Given the description of an element on the screen output the (x, y) to click on. 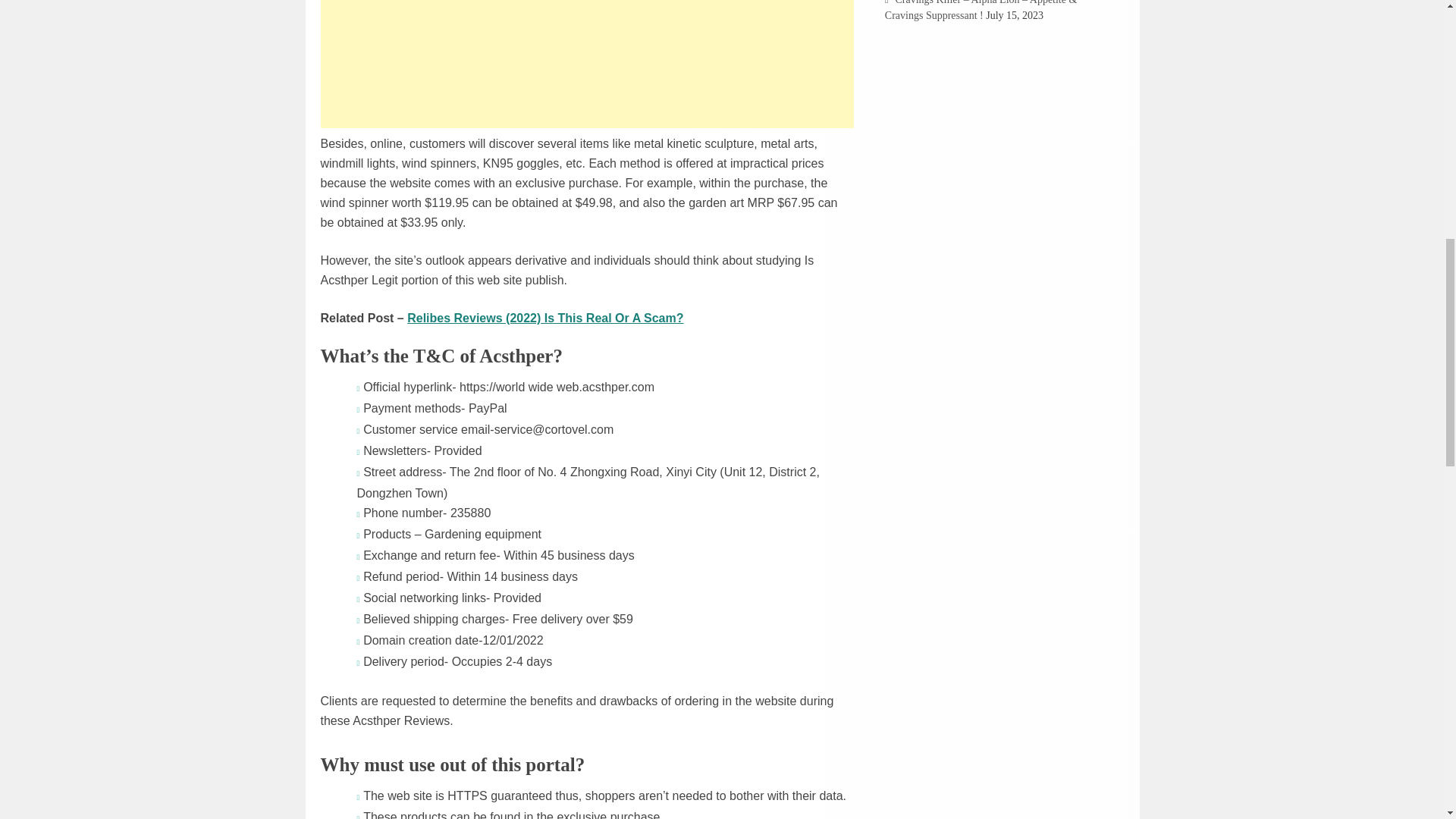
Advertisement (586, 63)
